Given the description of an element on the screen output the (x, y) to click on. 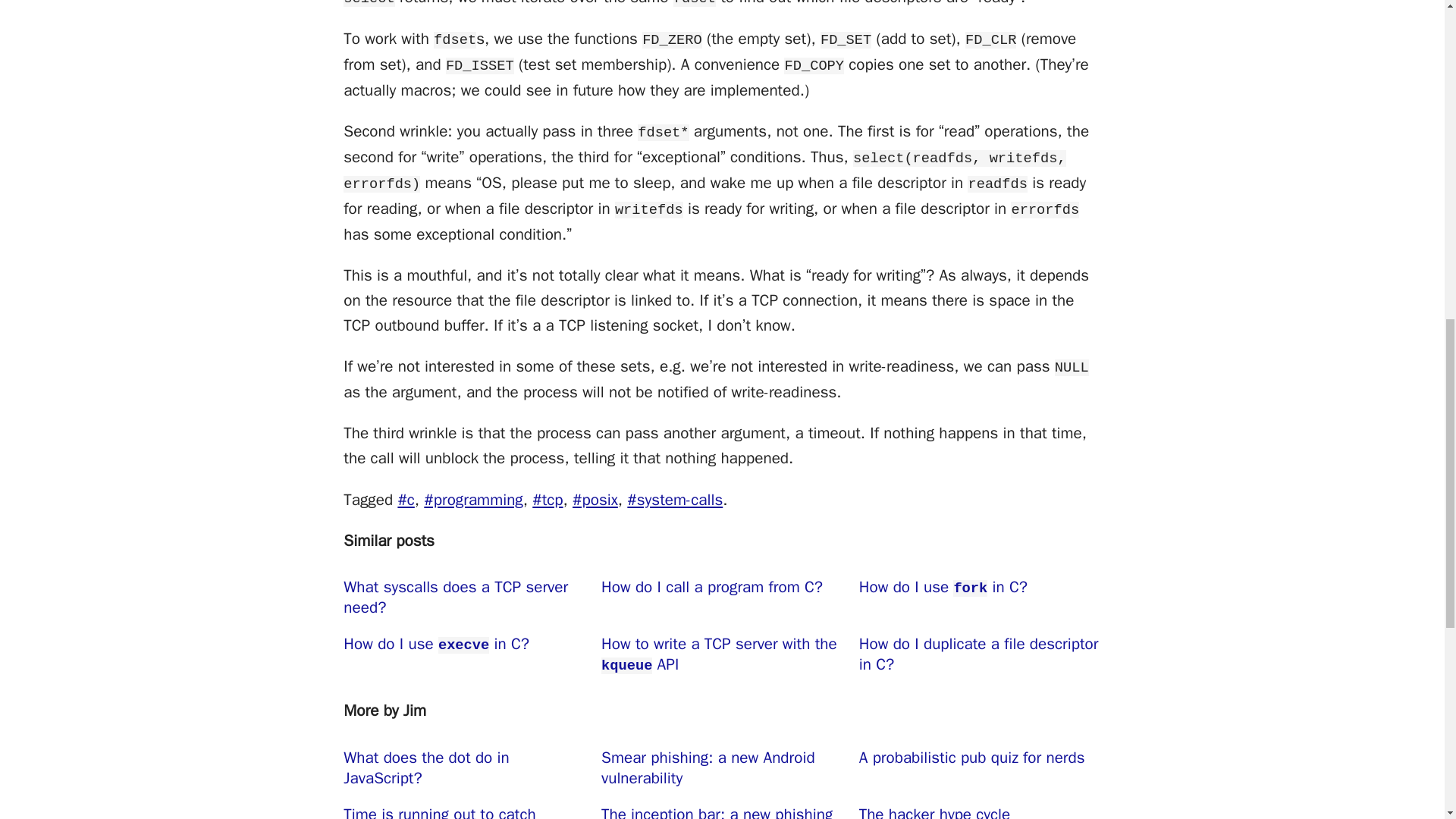
Smear phishing: a new Android vulnerability (722, 768)
What does the dot do in JavaScript? (464, 768)
Time is running out to catch COVID-19 (464, 807)
How do I use fork in C? (979, 597)
How do I use execve in C? (464, 654)
The hacker hype cycle (979, 807)
What syscalls does a TCP server need? (464, 597)
How do I call a program from C? (722, 597)
How to write a TCP server with the kqueue API (722, 654)
How do I duplicate a file descriptor in C? (979, 654)
